Given the description of an element on the screen output the (x, y) to click on. 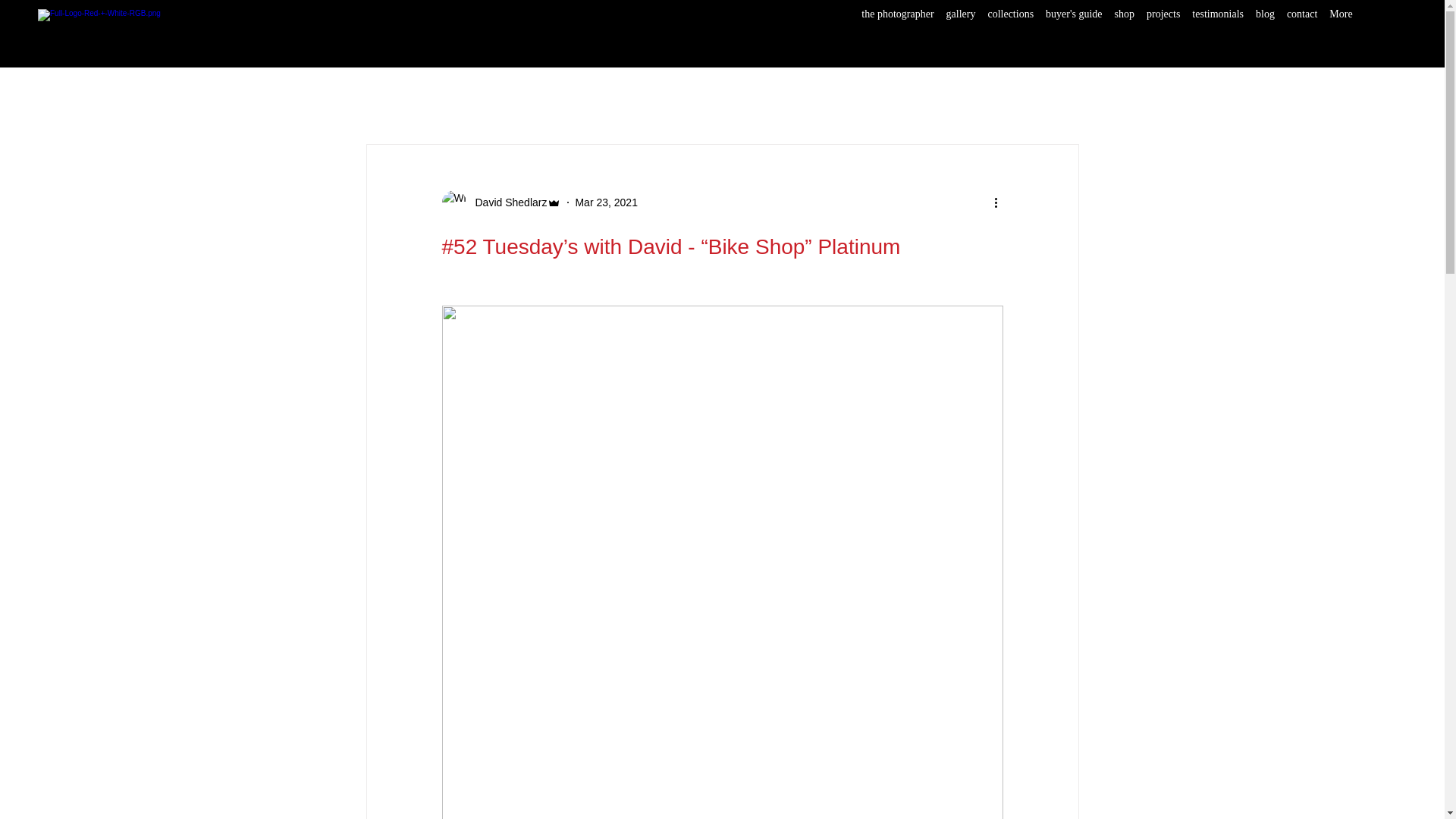
collections (1010, 28)
the photographer (897, 28)
buyer's guide (1073, 28)
Mar 23, 2021 (606, 201)
David Shedlarz (500, 202)
testimonials (1217, 28)
David Shedlarz (506, 201)
